Given the description of an element on the screen output the (x, y) to click on. 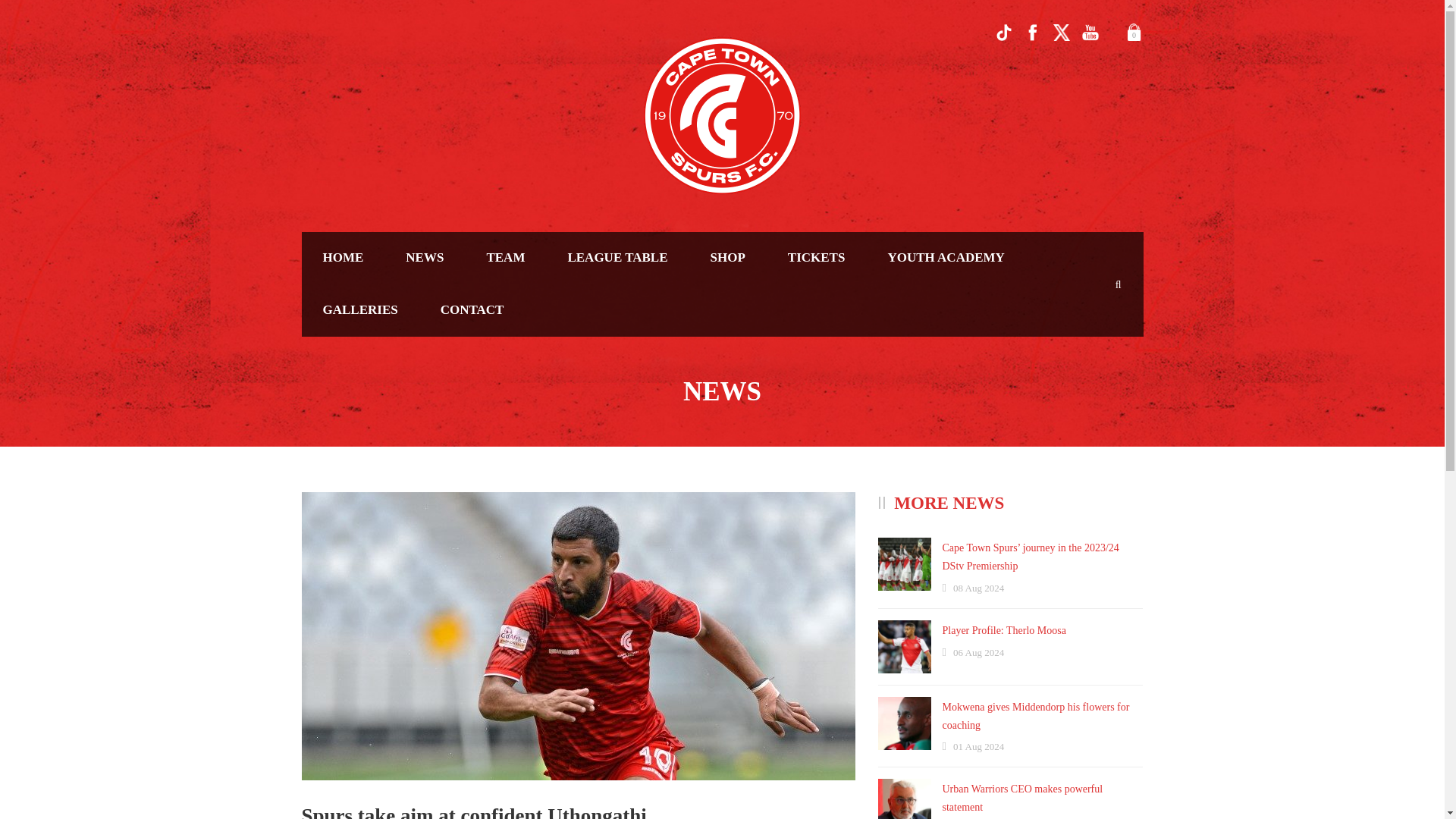
TEAM (505, 257)
CONTACT (472, 310)
NEWS (424, 257)
SHOP (727, 257)
TICKETS (816, 257)
GALLERIES (360, 310)
LEAGUE TABLE (617, 257)
YOUTH ACADEMY (945, 257)
HOME (343, 257)
